Given the description of an element on the screen output the (x, y) to click on. 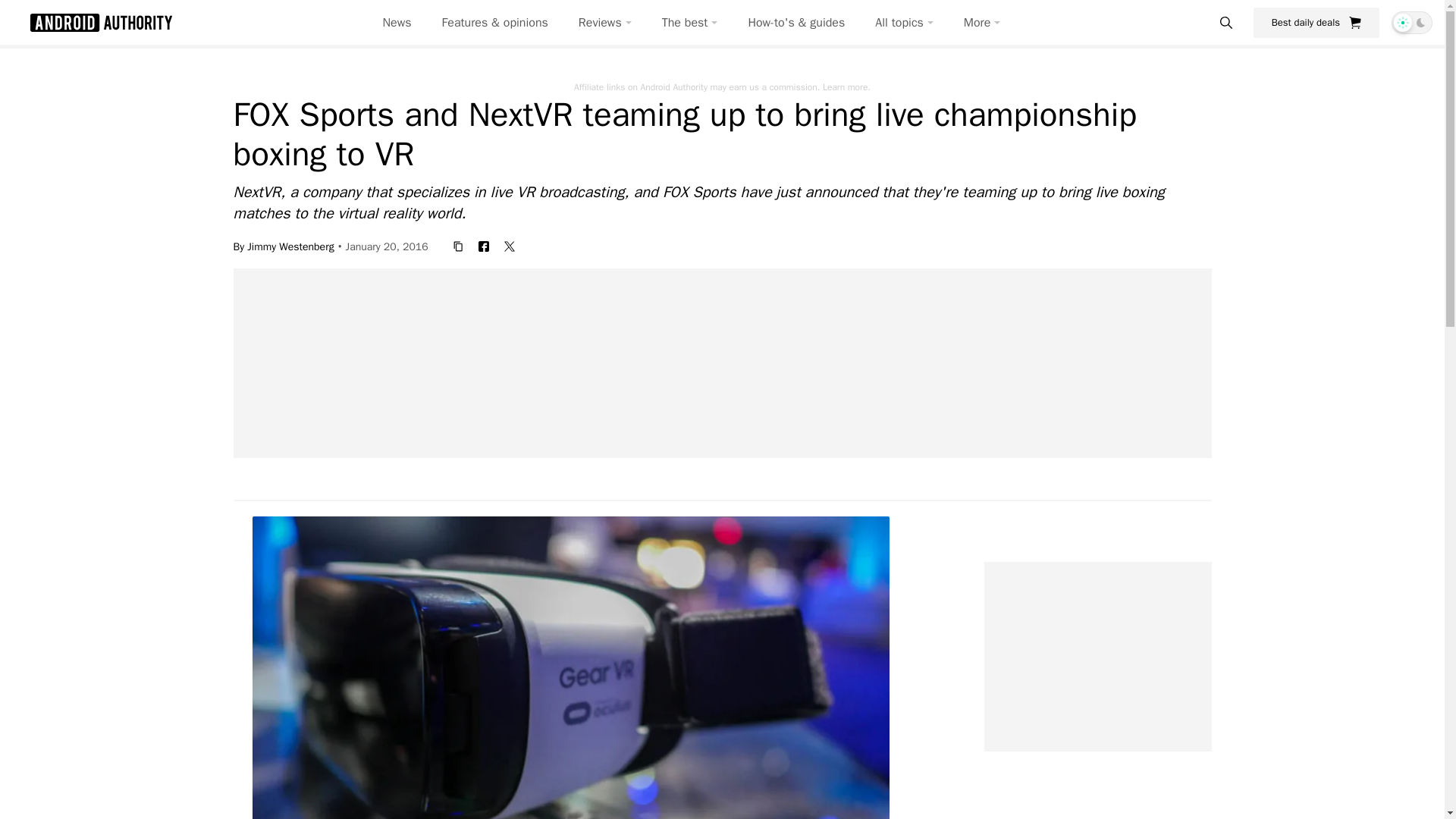
More (981, 22)
Learn more. (846, 86)
Reviews (604, 22)
Best daily deals (1315, 22)
The best (689, 22)
Jimmy Westenberg (290, 245)
twitter (509, 246)
All topics (904, 22)
facebook (483, 246)
News (397, 22)
